Given the description of an element on the screen output the (x, y) to click on. 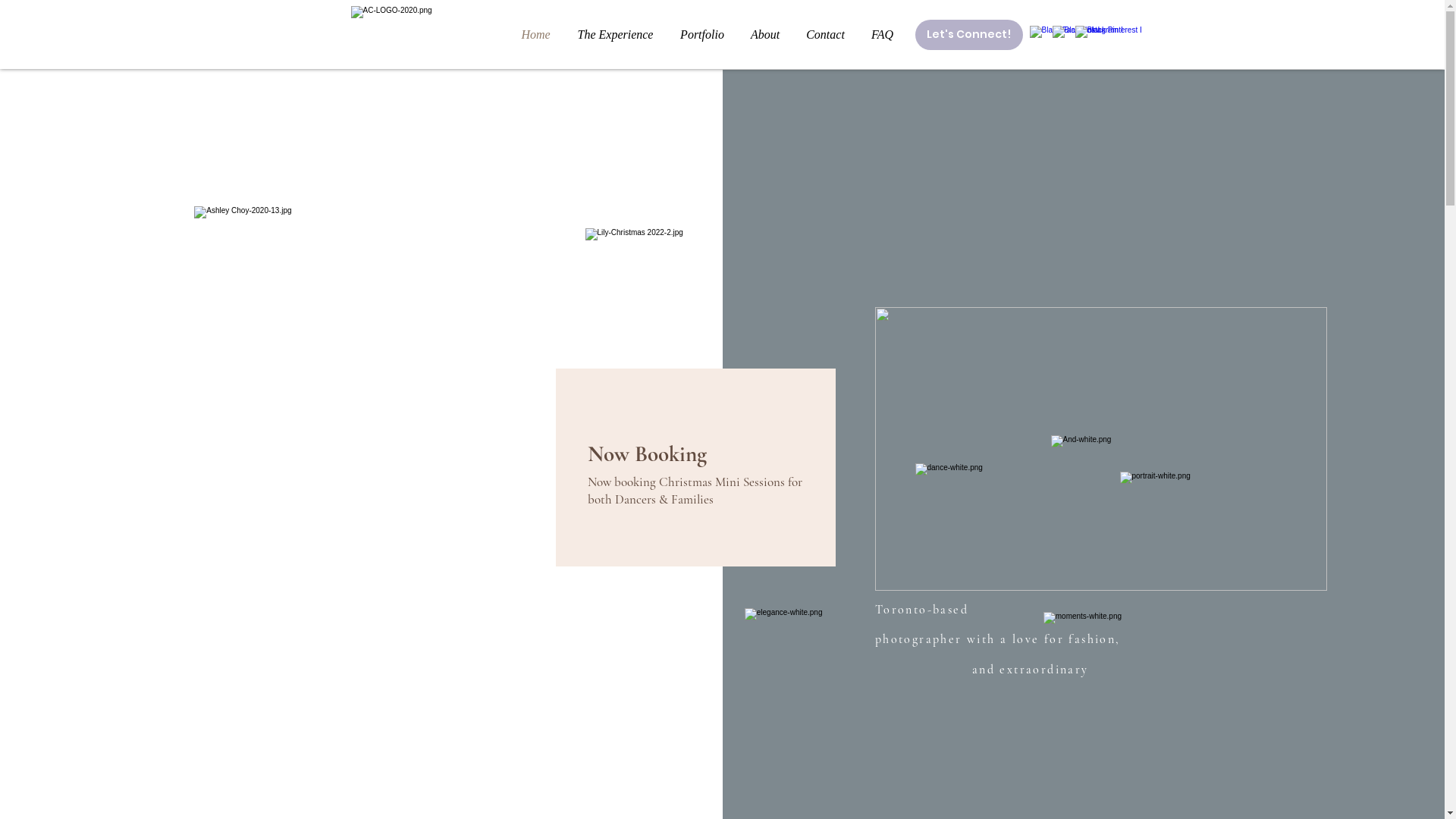
FAQ Element type: text (882, 34)
The Experience Element type: text (615, 34)
About Element type: text (764, 34)
Home Element type: text (536, 34)
Contact Element type: text (825, 34)
Portfolio Element type: text (702, 34)
Let's Connect! Element type: text (968, 34)
